Given the description of an element on the screen output the (x, y) to click on. 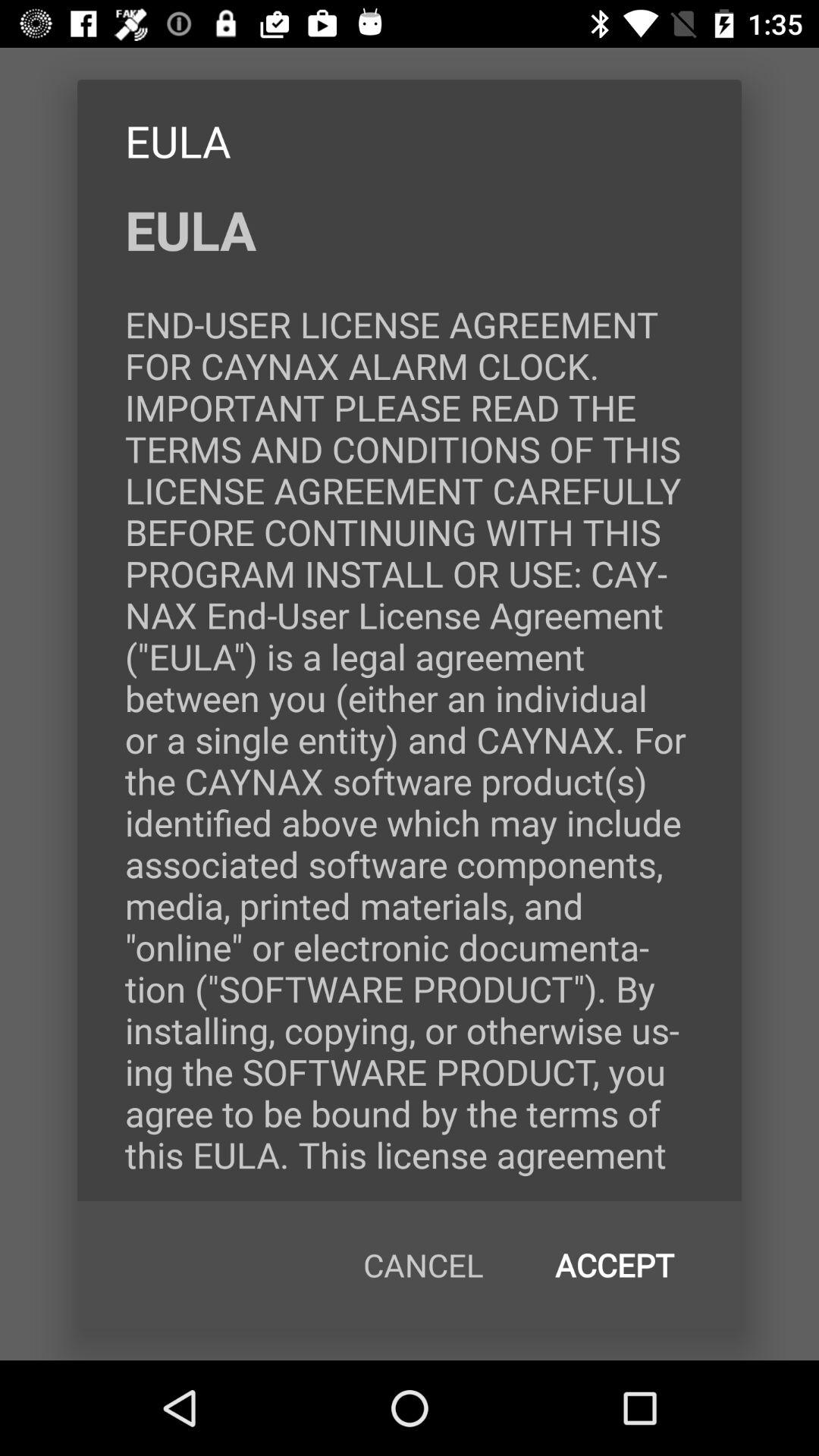
choose icon at the bottom (422, 1264)
